Given the description of an element on the screen output the (x, y) to click on. 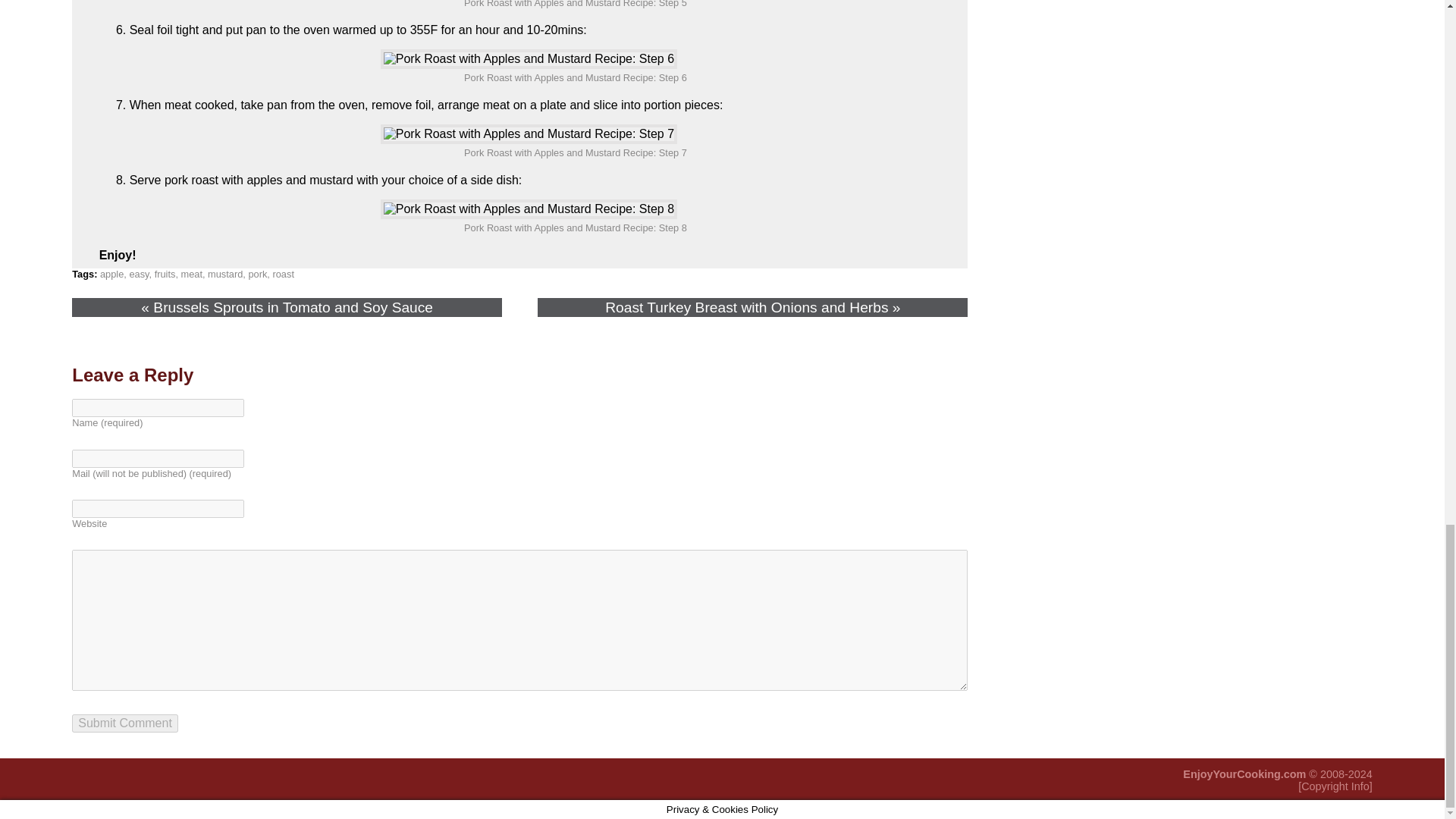
mustard (225, 274)
meat (191, 274)
fruits (165, 274)
Submit Comment (124, 723)
apple (111, 274)
easy (138, 274)
